Given the description of an element on the screen output the (x, y) to click on. 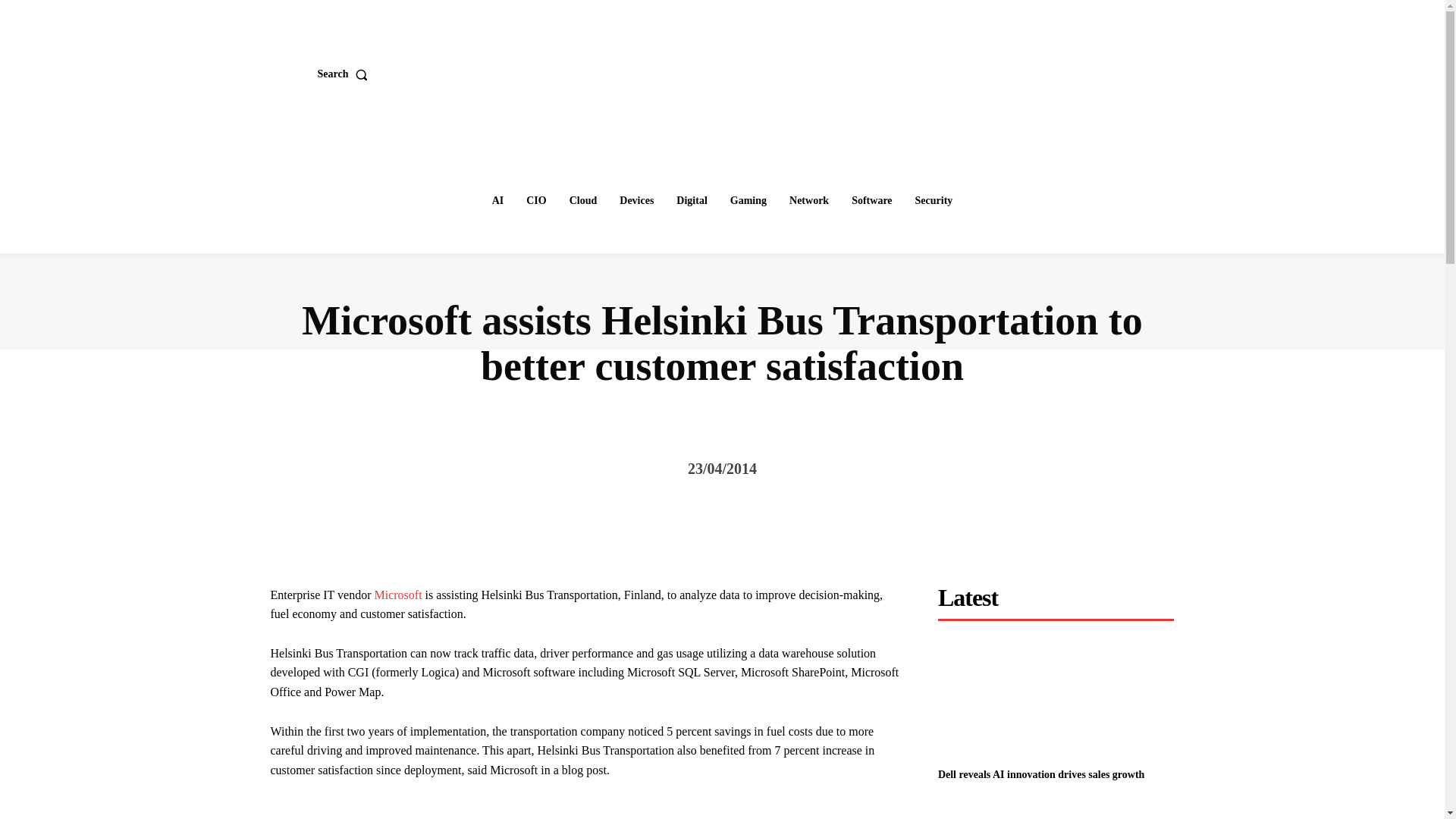
CIO (535, 201)
Cloud (583, 201)
Search (345, 74)
